Given the description of an element on the screen output the (x, y) to click on. 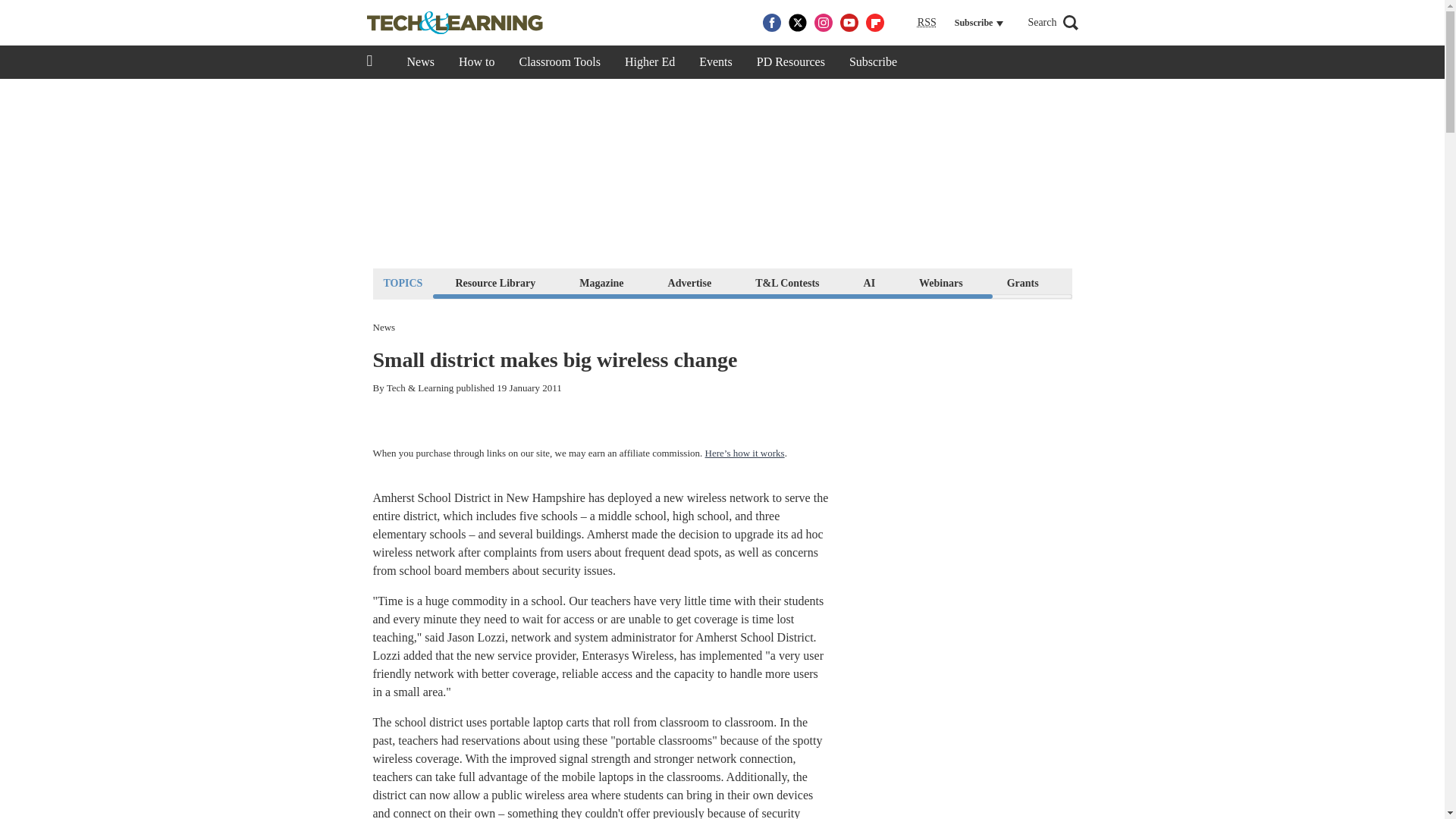
Grants (1022, 282)
Resource Library (494, 282)
Higher Ed (649, 61)
AI (869, 282)
News (419, 61)
What to Buy (1111, 282)
Really Simple Syndication (926, 21)
Subscribe (872, 61)
Advertise (689, 282)
PD Resources (790, 61)
